Given the description of an element on the screen output the (x, y) to click on. 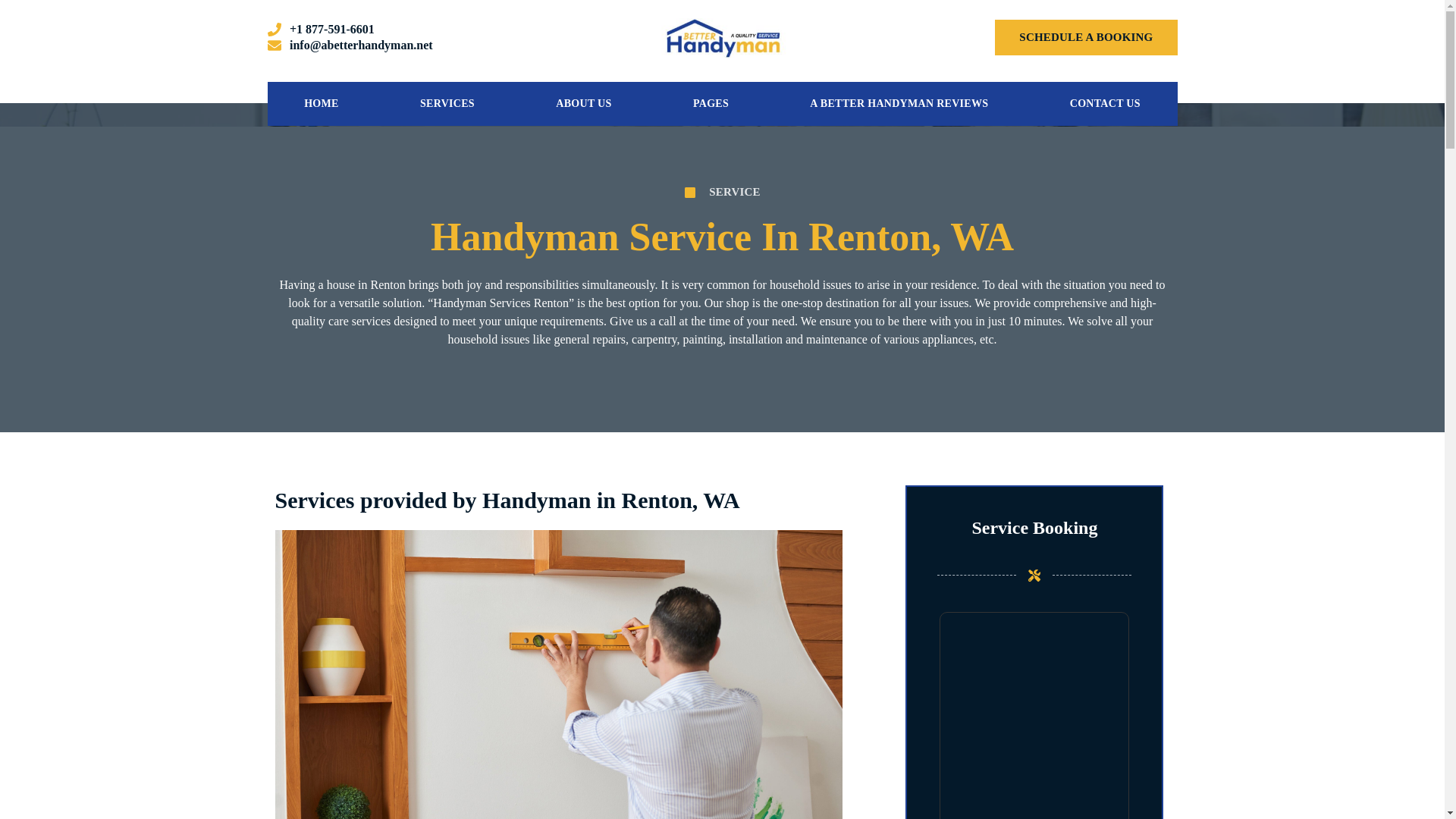
CONTACT US (1104, 103)
PAGES (710, 103)
A BETTER HANDYMAN REVIEWS (899, 103)
SERVICES (446, 103)
SCHEDULE A BOOKING (1085, 37)
ABOUT US (584, 103)
HOME (320, 103)
